Given the description of an element on the screen output the (x, y) to click on. 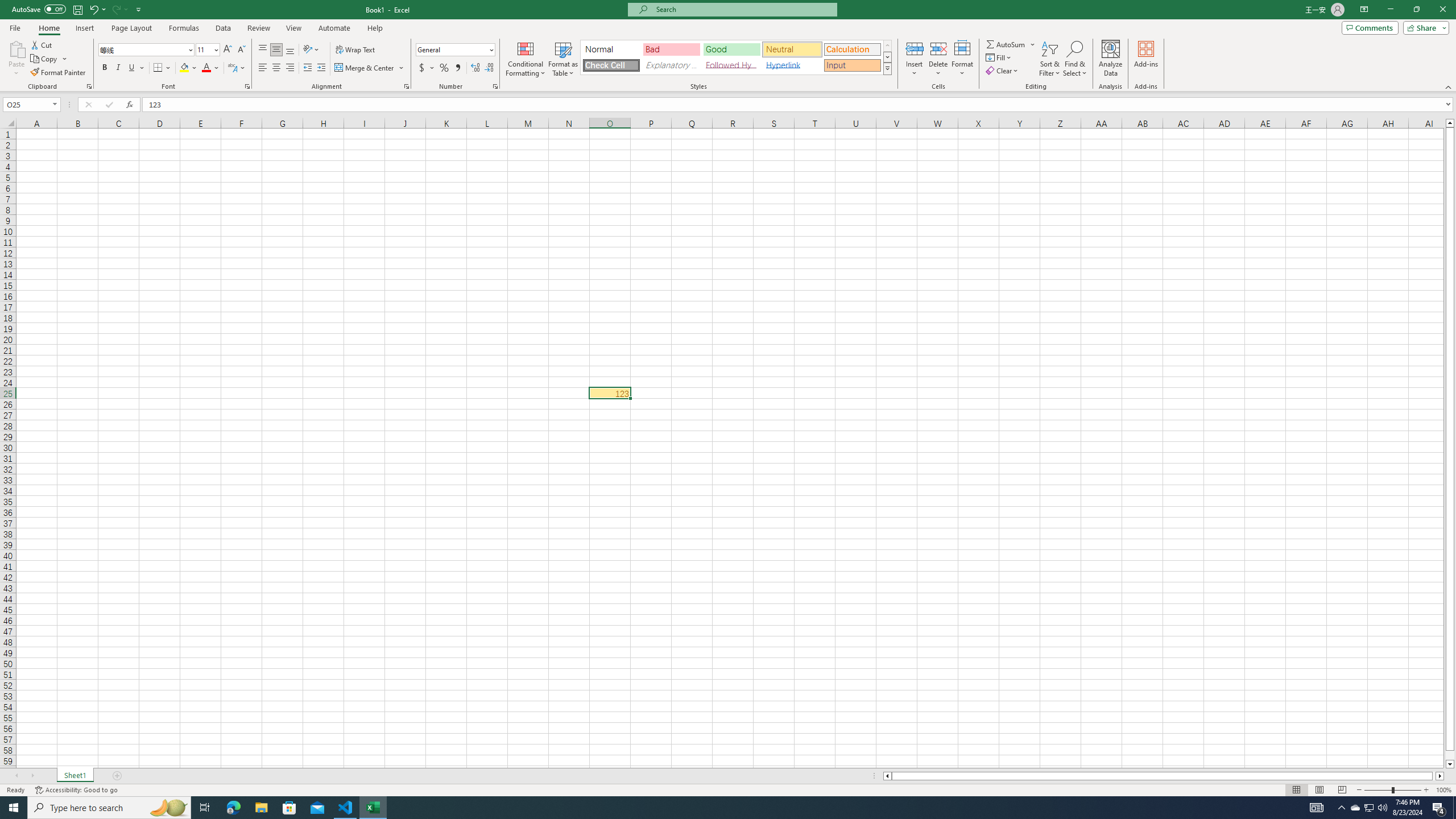
Class: NetUIImage (887, 68)
Decrease Decimal (489, 67)
Show Phonetic Field (231, 67)
Format Cell Font (247, 85)
Page down (1449, 755)
Redo (119, 9)
Redo (115, 9)
Align Right (290, 67)
Format (962, 58)
Check Cell (611, 65)
Class: MsoCommandBar (728, 45)
Increase Indent (320, 67)
Hyperlink (791, 65)
Scroll Left (16, 775)
